Given the description of an element on the screen output the (x, y) to click on. 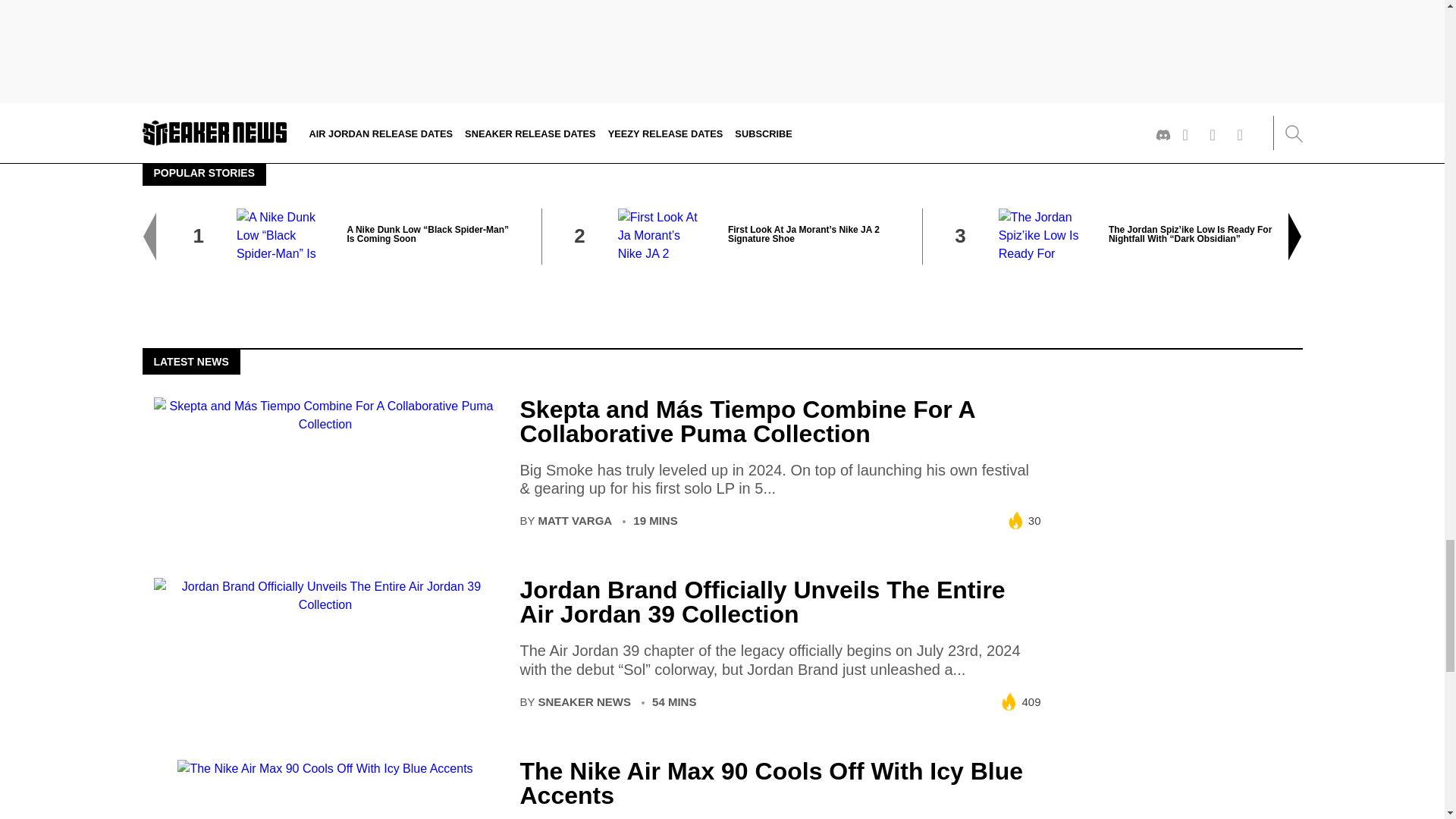
3rd party ad content (1176, 492)
